Given the description of an element on the screen output the (x, y) to click on. 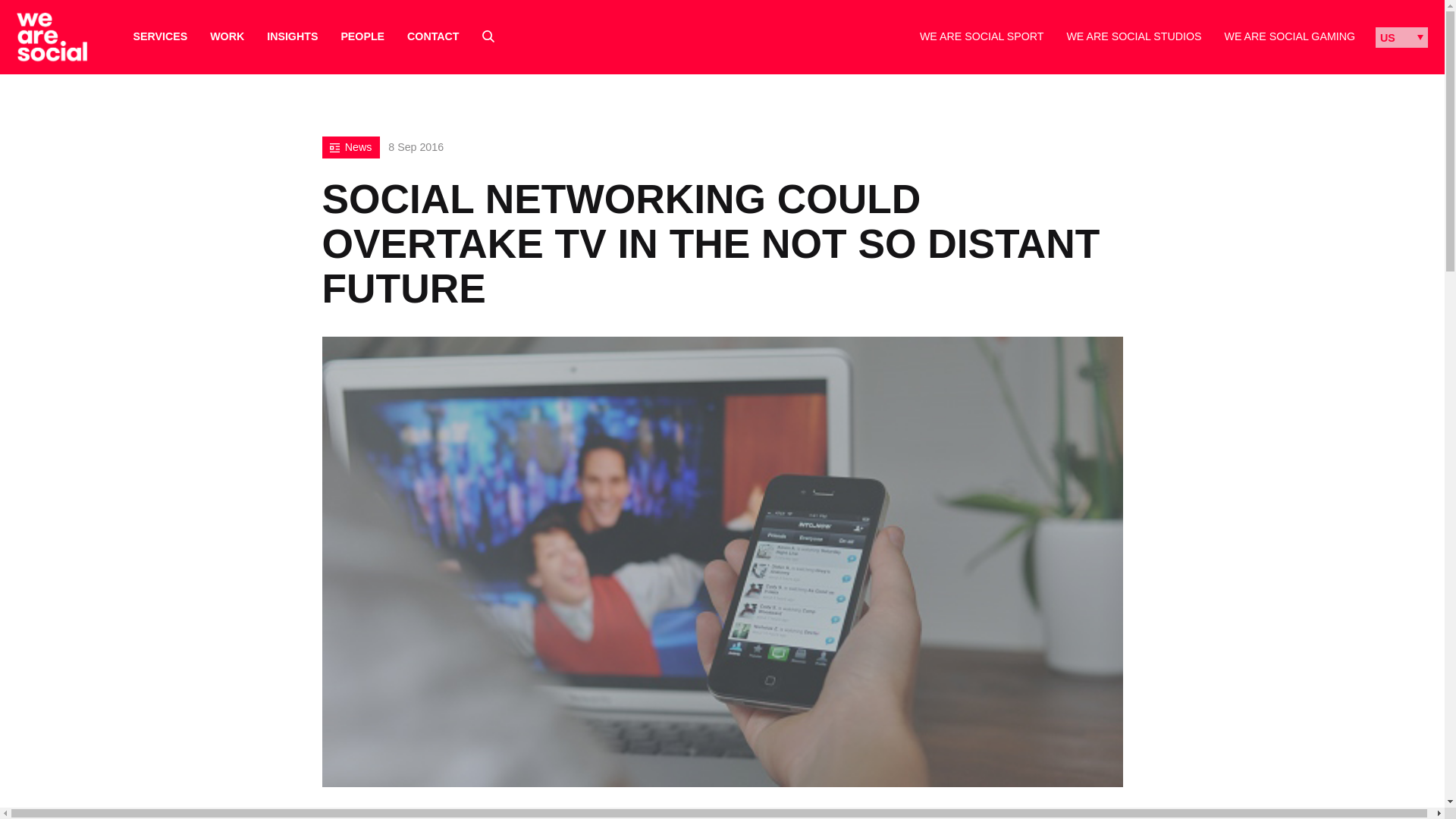
PEOPLE (362, 36)
SERVICES (160, 36)
WE ARE SOCIAL STUDIOS (1133, 36)
WE ARE SOCIAL GAMING (1289, 36)
Contact (432, 36)
Select to toggle search form (488, 36)
INSIGHTS (291, 36)
CONTACT (432, 36)
WE ARE SOCIAL SPORT (981, 36)
Work (226, 36)
WORK (226, 36)
Insights (291, 36)
